Given the description of an element on the screen output the (x, y) to click on. 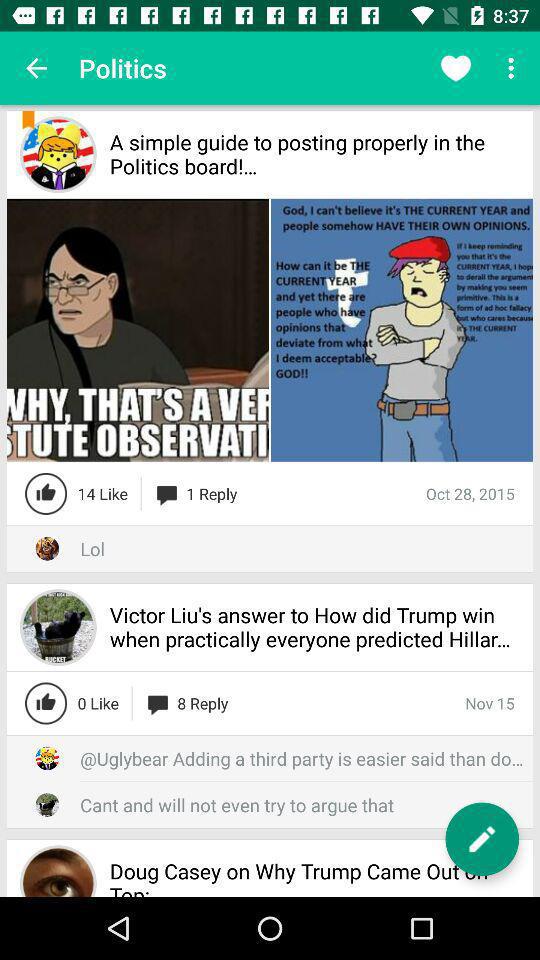
turn on the icon to the left of the politics app (36, 68)
